Given the description of an element on the screen output the (x, y) to click on. 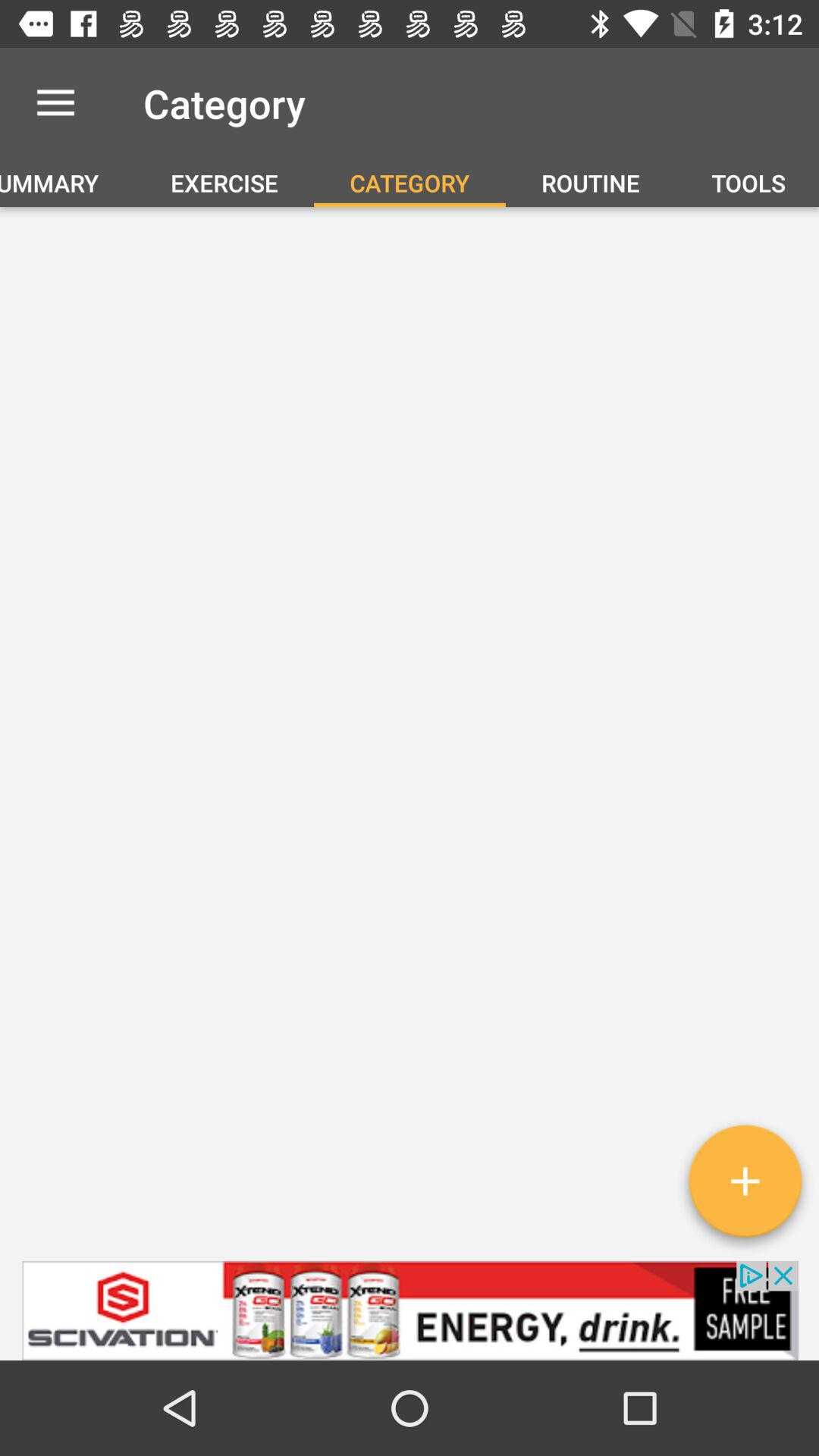
add new category (745, 1186)
